Given the description of an element on the screen output the (x, y) to click on. 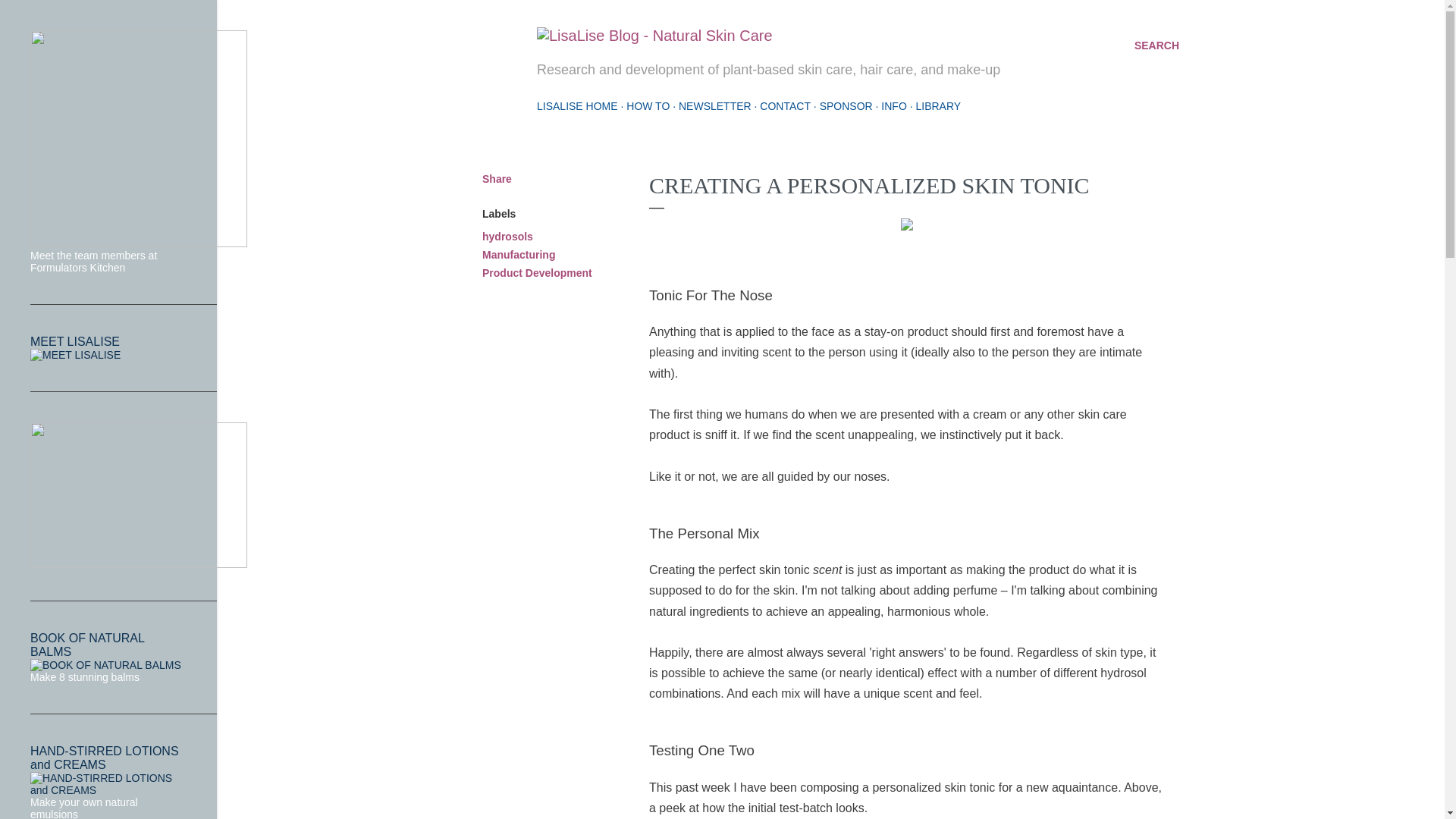
NEWSLETTER (714, 105)
Manufacturing (517, 254)
HOW TO (647, 105)
LIBRARY (937, 105)
LISALISE HOME (577, 105)
CONTACT (785, 105)
SEARCH (1156, 45)
Share (496, 178)
Product Development (536, 272)
hydrosols (506, 236)
SPONSOR (845, 105)
INFO (892, 105)
